Given the description of an element on the screen output the (x, y) to click on. 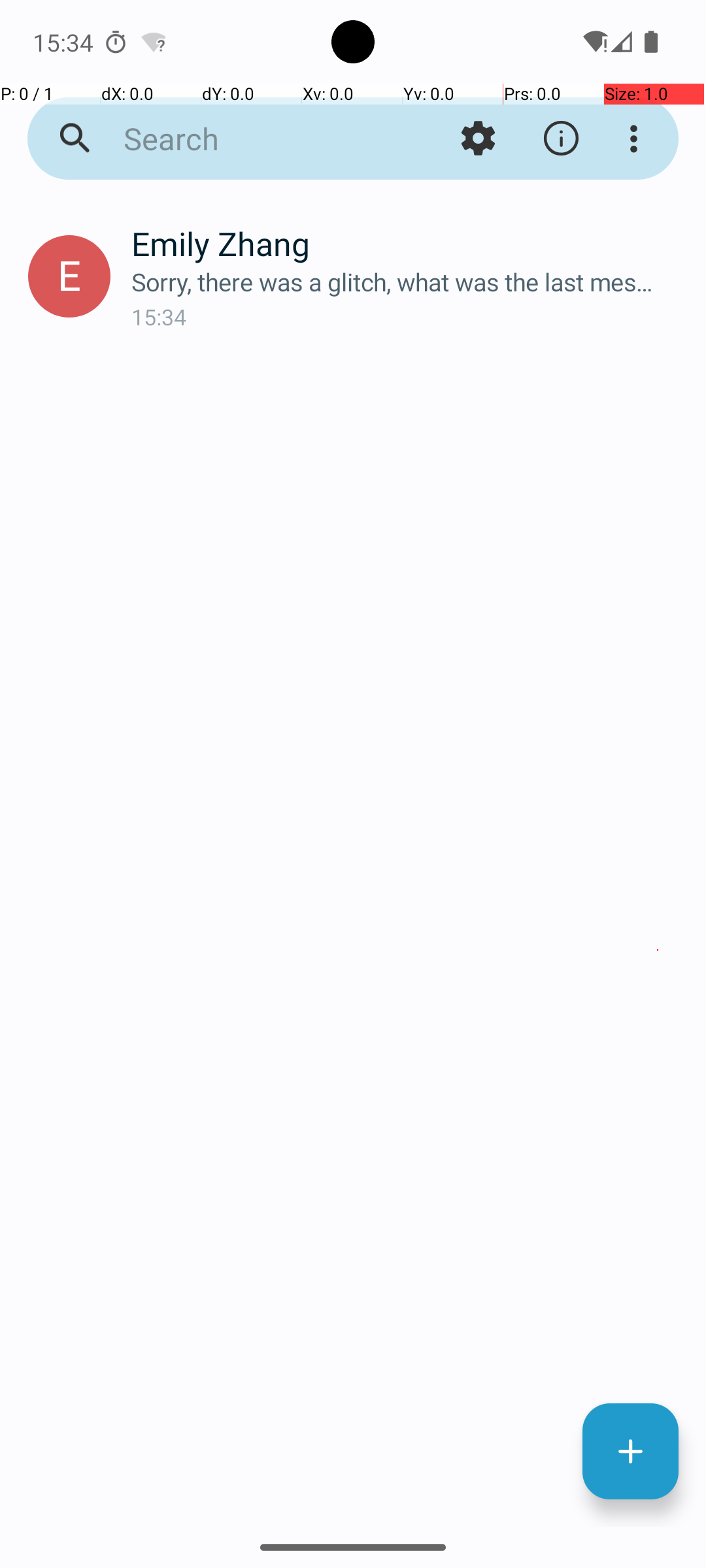
Emily Zhang Element type: android.widget.TextView (408, 242)
Sorry, there was a glitch, what was the last message you sent me? Element type: android.widget.TextView (408, 281)
